Given the description of an element on the screen output the (x, y) to click on. 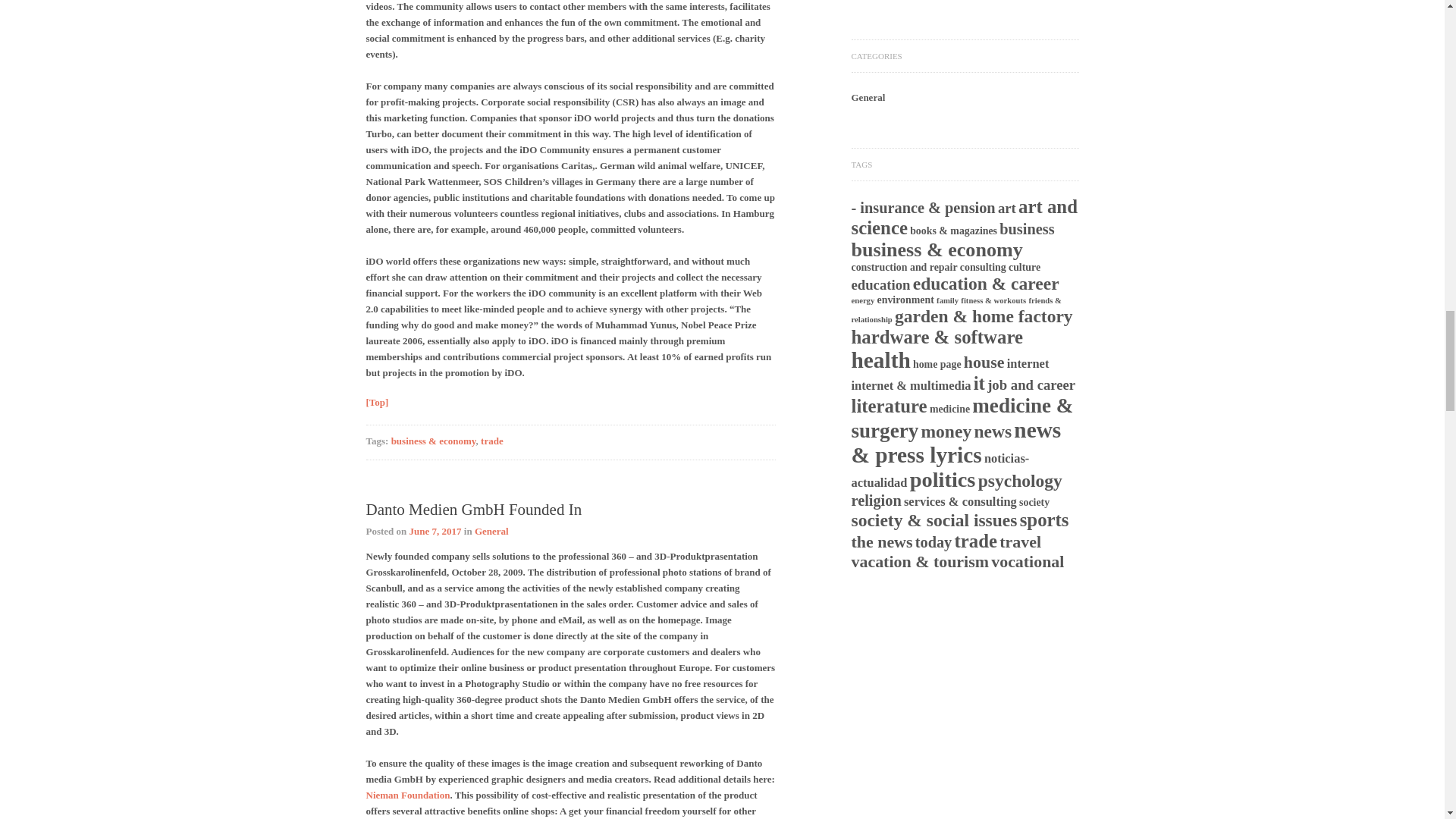
Scroll to top (376, 402)
General (491, 531)
June 7, 2017 (435, 531)
trade (491, 440)
Nieman Foundation (407, 794)
Danto Medien GmbH Founded In (435, 531)
Danto Medien GmbH Founded In (472, 509)
